Given the description of an element on the screen output the (x, y) to click on. 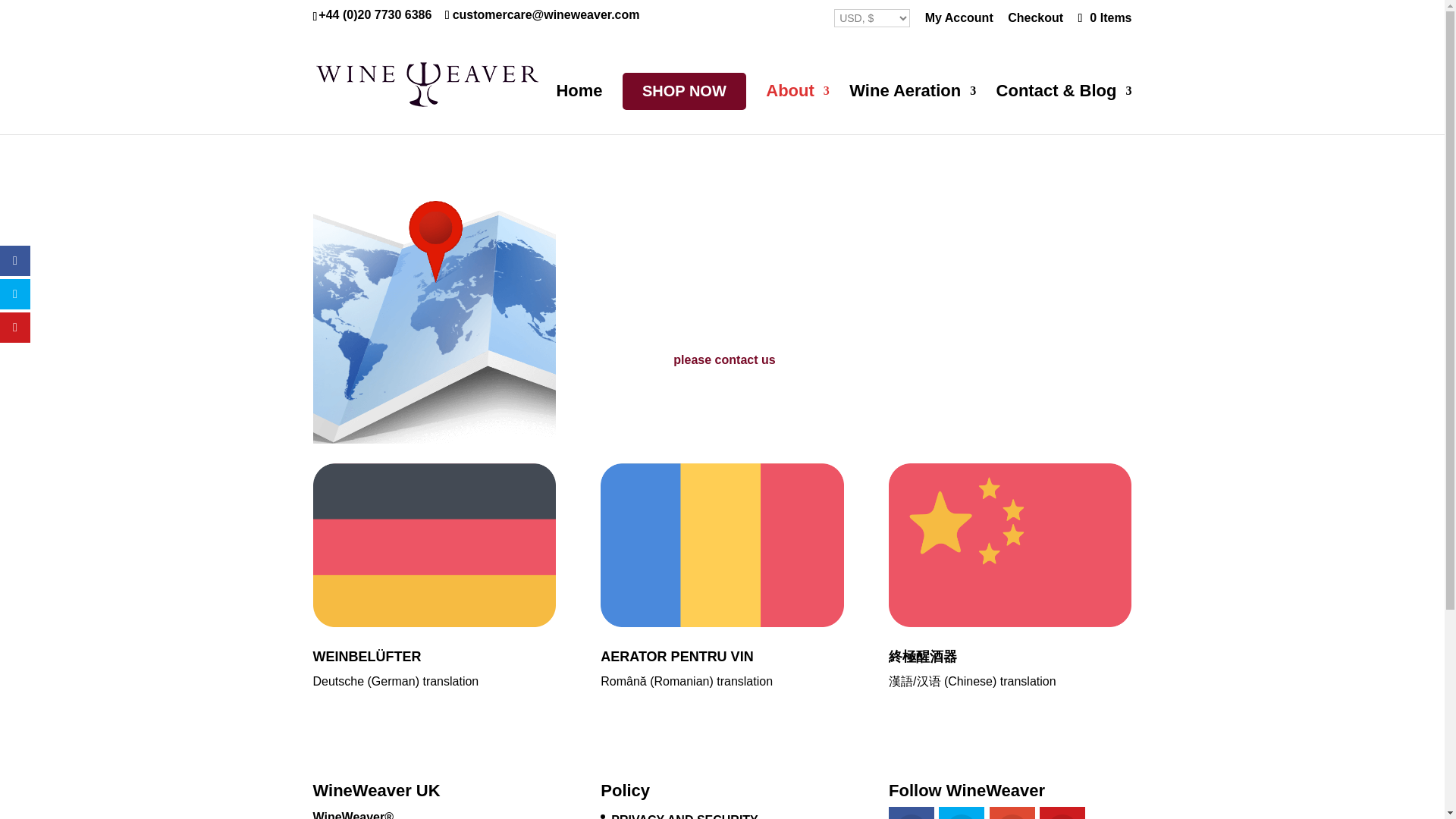
Home (579, 109)
My Account (958, 22)
0 Items (1102, 17)
About (797, 109)
Wine Aeration (911, 109)
Checkout (1034, 22)
SHOP NOW (684, 90)
